Given the description of an element on the screen output the (x, y) to click on. 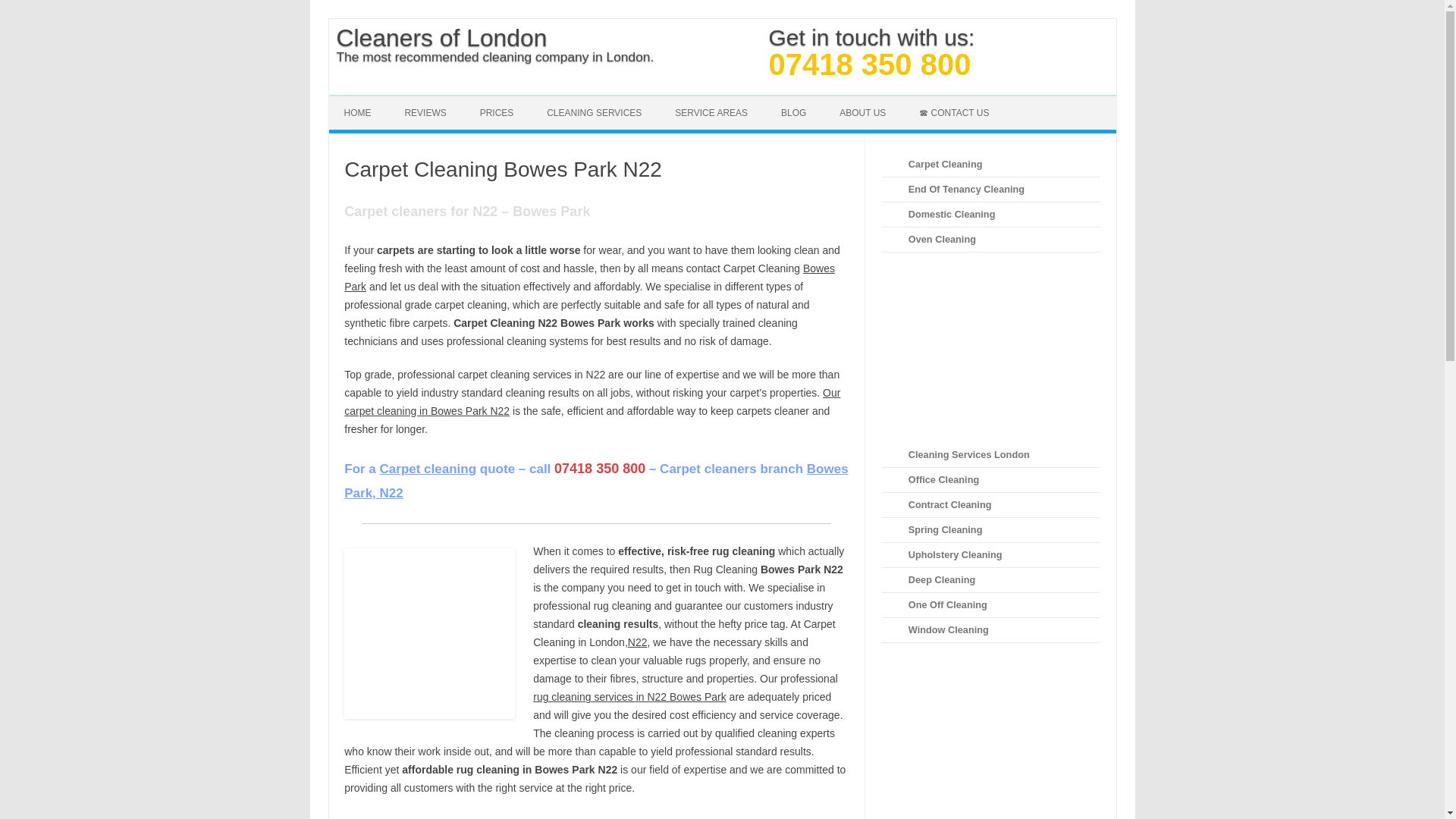
Cleaners of London (502, 38)
Skip to content (757, 100)
Cleaning London (358, 112)
Cleaning Services London (593, 112)
Cleaning Prices (496, 112)
REVIEWS (424, 112)
CLEANING SERVICES (593, 112)
SERVICE AREAS (710, 112)
PRICES (496, 112)
HOME (358, 112)
